Given the description of an element on the screen output the (x, y) to click on. 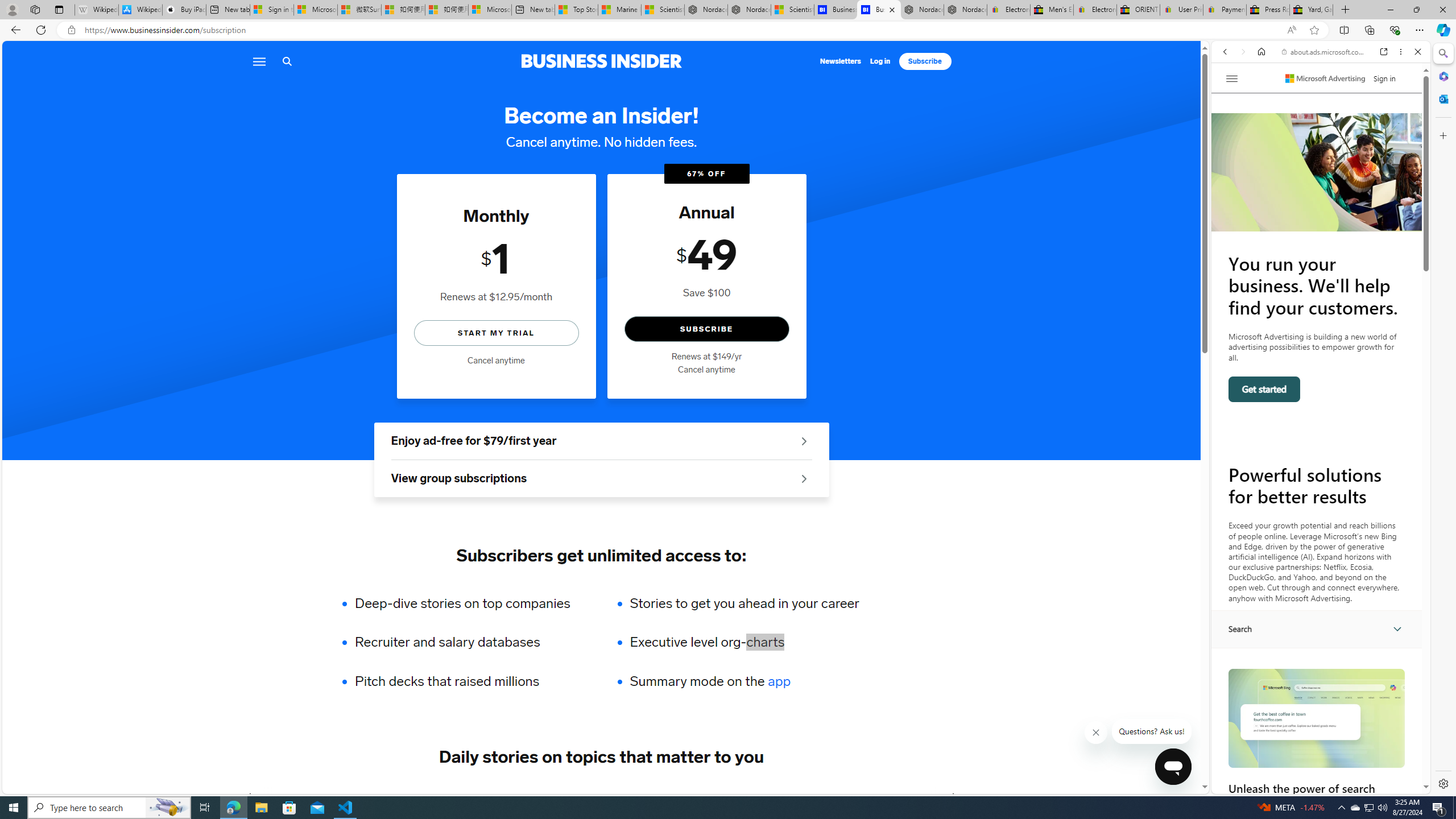
Microsoft Advertising (1325, 78)
Close message from company (1096, 732)
FINANCE (485, 796)
app (778, 681)
AutomationID: search (1316, 628)
Summary mode on the app (743, 681)
